Given the description of an element on the screen output the (x, y) to click on. 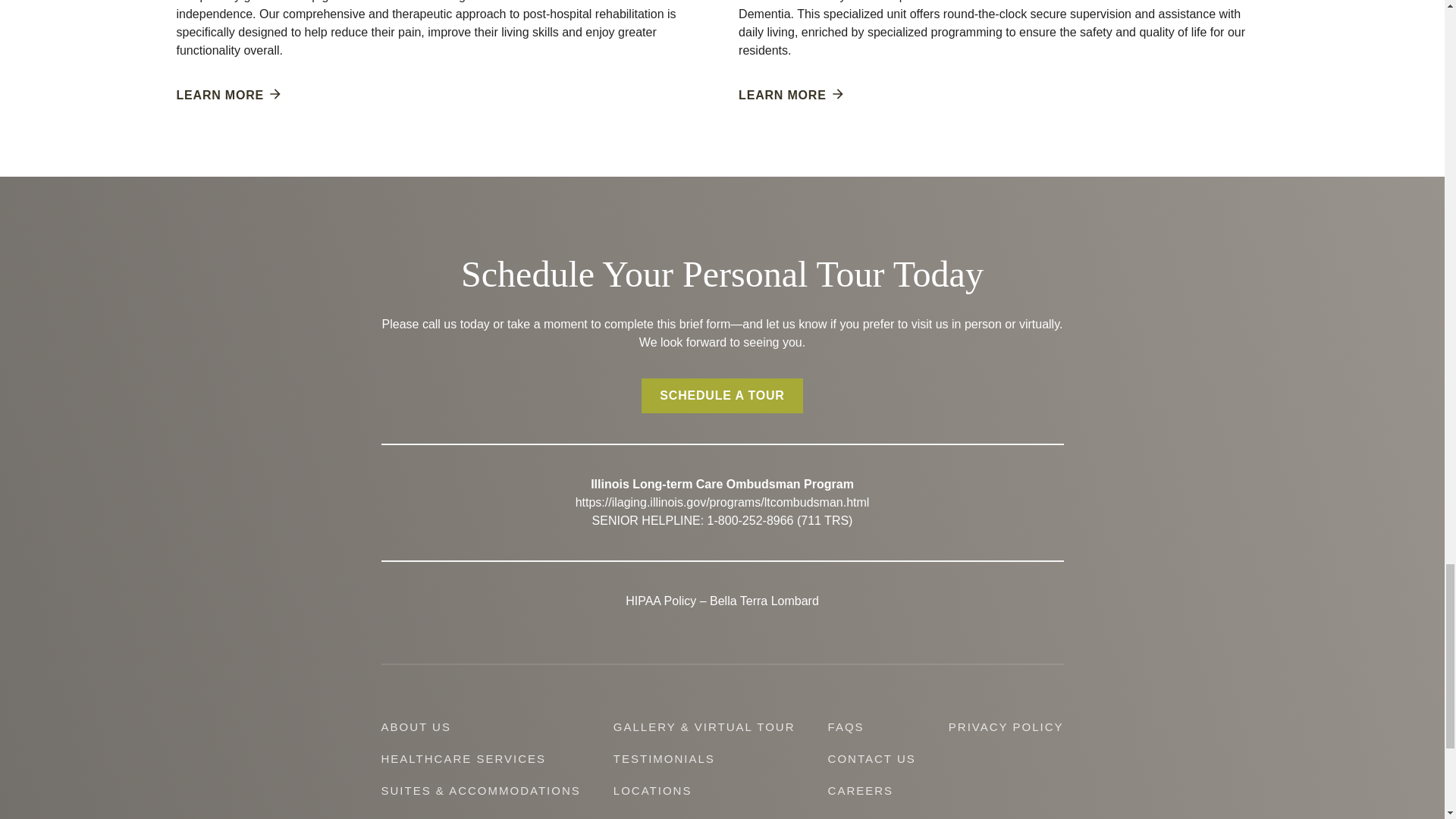
CONTACT US (871, 758)
LOCATIONS (652, 789)
CAREERS (860, 789)
HEALTHCARE SERVICES (463, 758)
FAQS (846, 726)
ABOUT US (414, 726)
PRIVACY POLICY (1006, 726)
SCHEDULE A TOUR (722, 395)
TESTIMONIALS (663, 758)
